Given the description of an element on the screen output the (x, y) to click on. 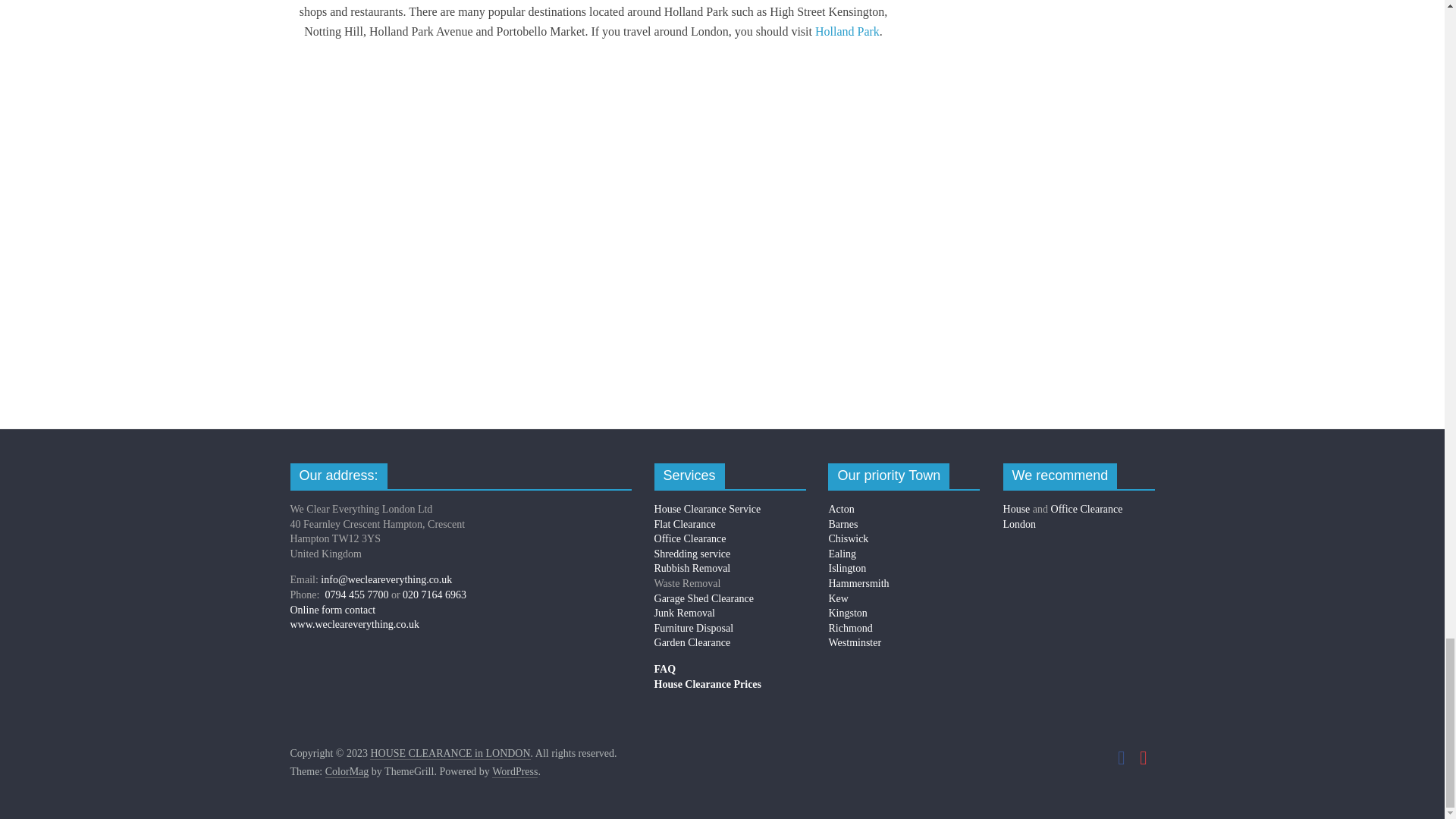
ColorMag (346, 771)
WordPress (514, 771)
Holland Park (847, 31)
HOUSE CLEARANCE in LONDON (449, 753)
